Given the description of an element on the screen output the (x, y) to click on. 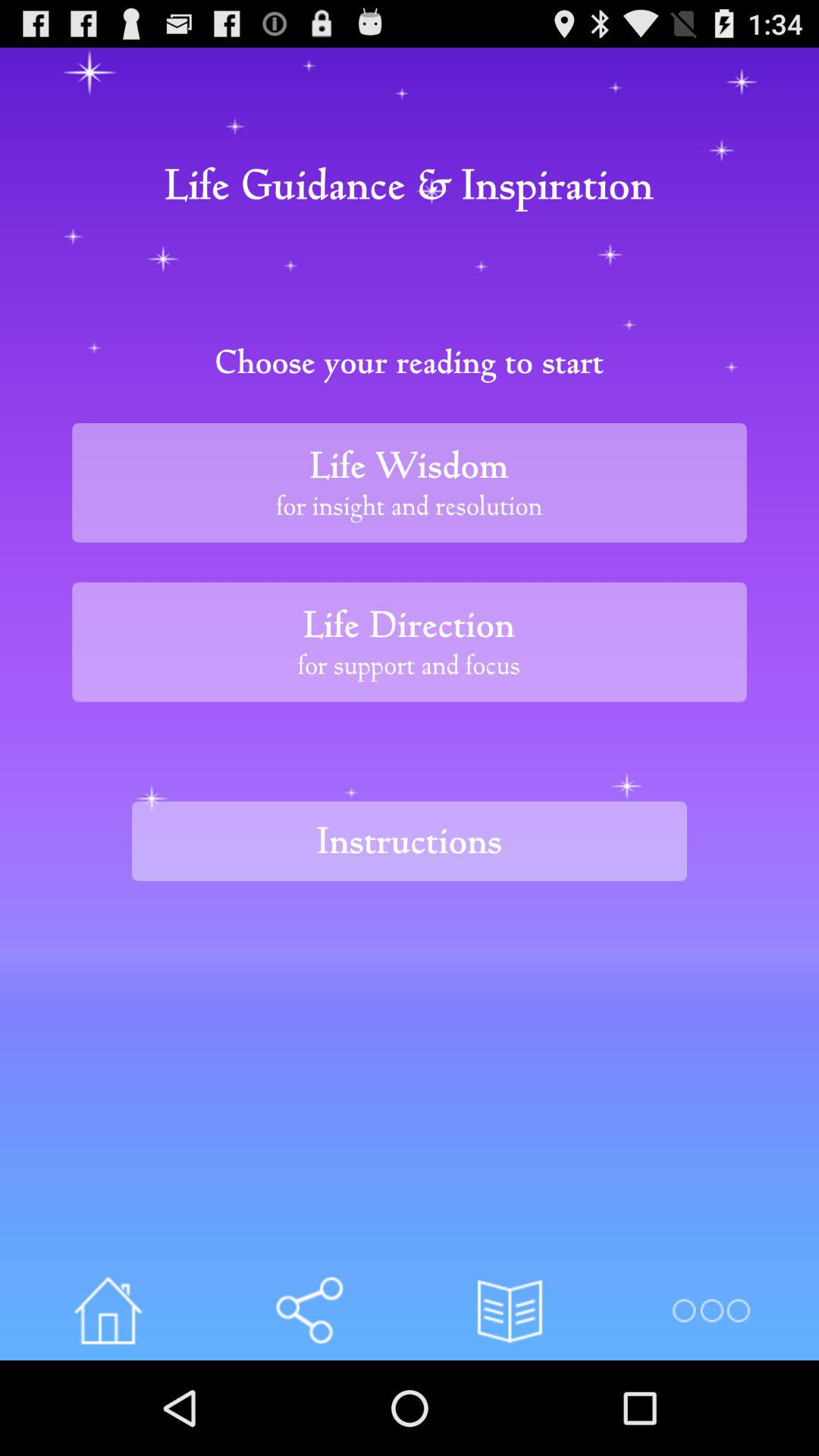
info option (308, 1310)
